Given the description of an element on the screen output the (x, y) to click on. 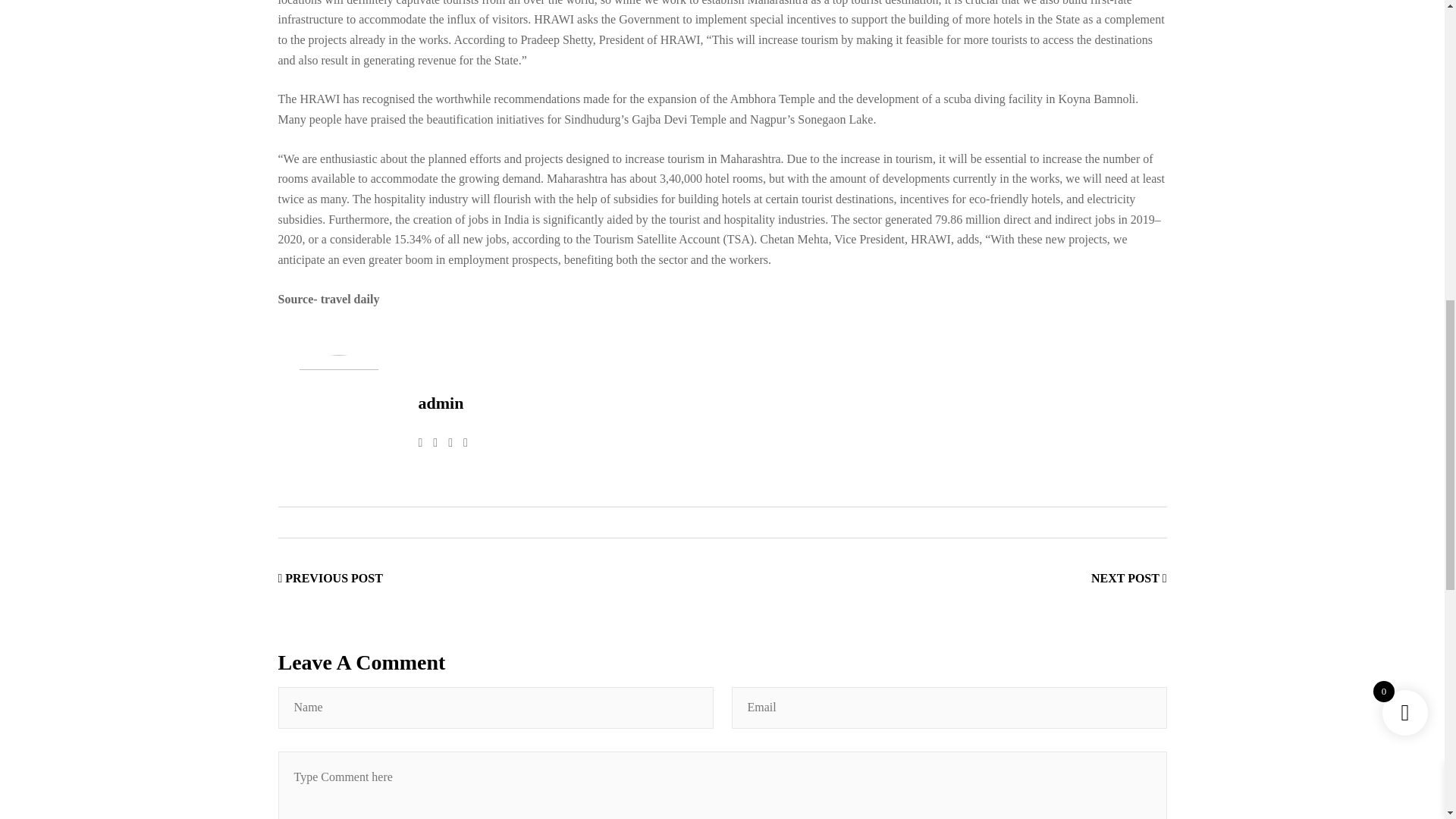
NEXT POST (1128, 578)
PREVIOUS POST (329, 578)
travel daily (350, 298)
